Given the description of an element on the screen output the (x, y) to click on. 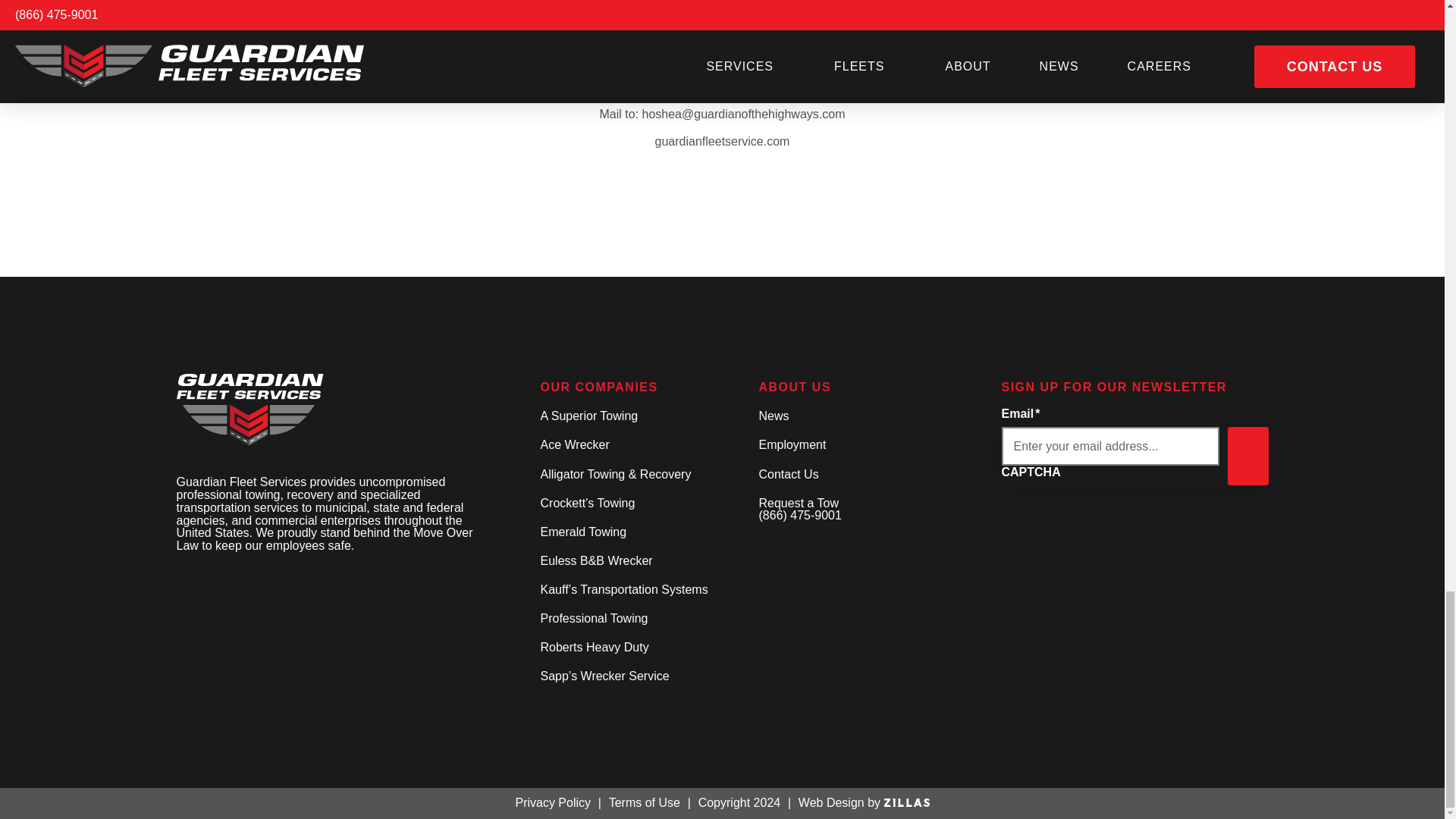
Linkedin (193, 583)
Emerald Towing (636, 532)
A Superior Towing (636, 416)
Ace Wrecker (636, 445)
OUR COMPANIES (636, 387)
Facebook (175, 583)
